Given the description of an element on the screen output the (x, y) to click on. 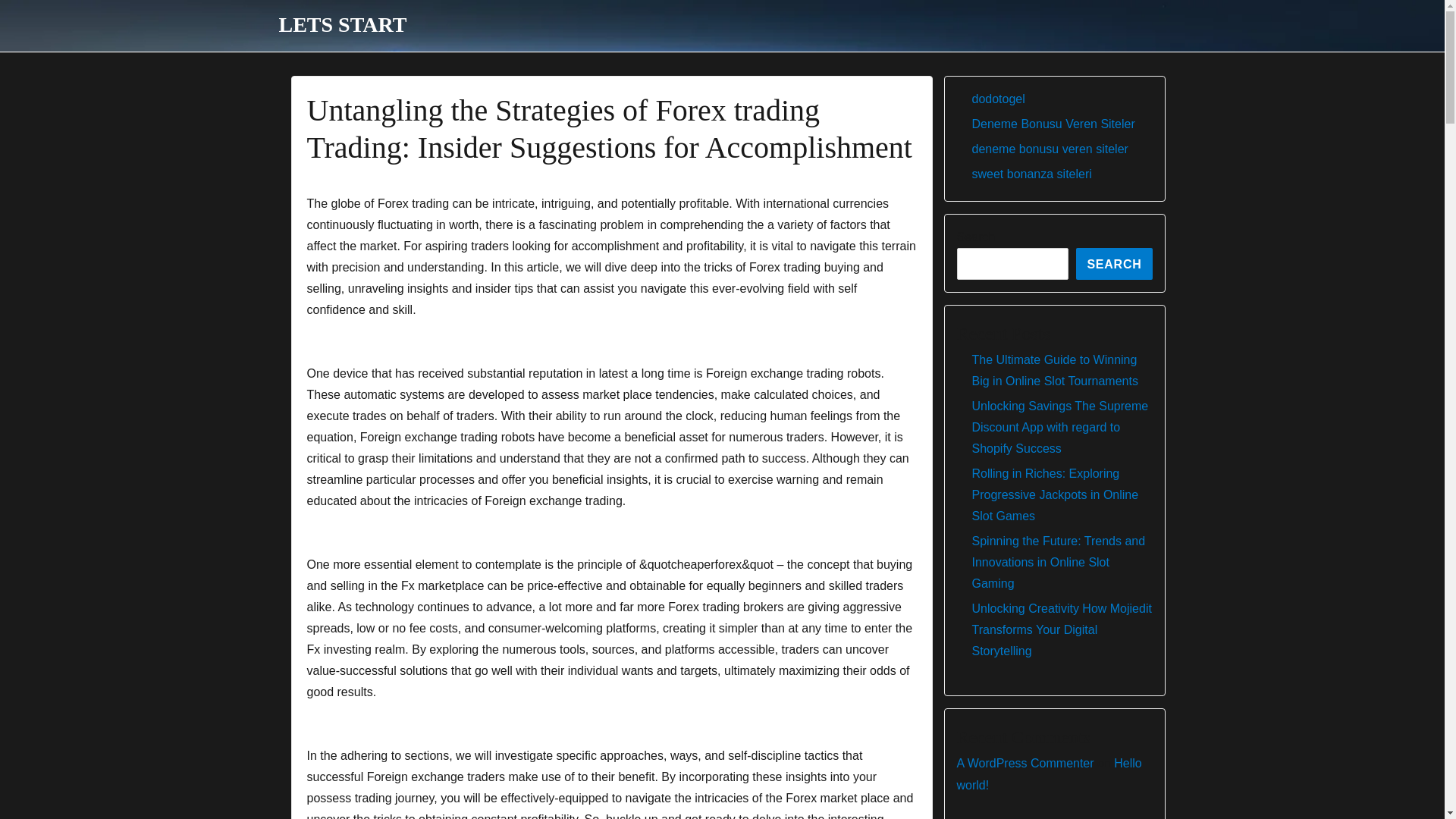
Hello world! (1048, 773)
The Ultimate Guide to Winning Big in Online Slot Tournaments (1055, 369)
LETS START (343, 24)
dodotogel (998, 98)
Deneme Bonusu Veren Siteler (1053, 123)
deneme bonusu veren siteler (1050, 148)
